Given the description of an element on the screen output the (x, y) to click on. 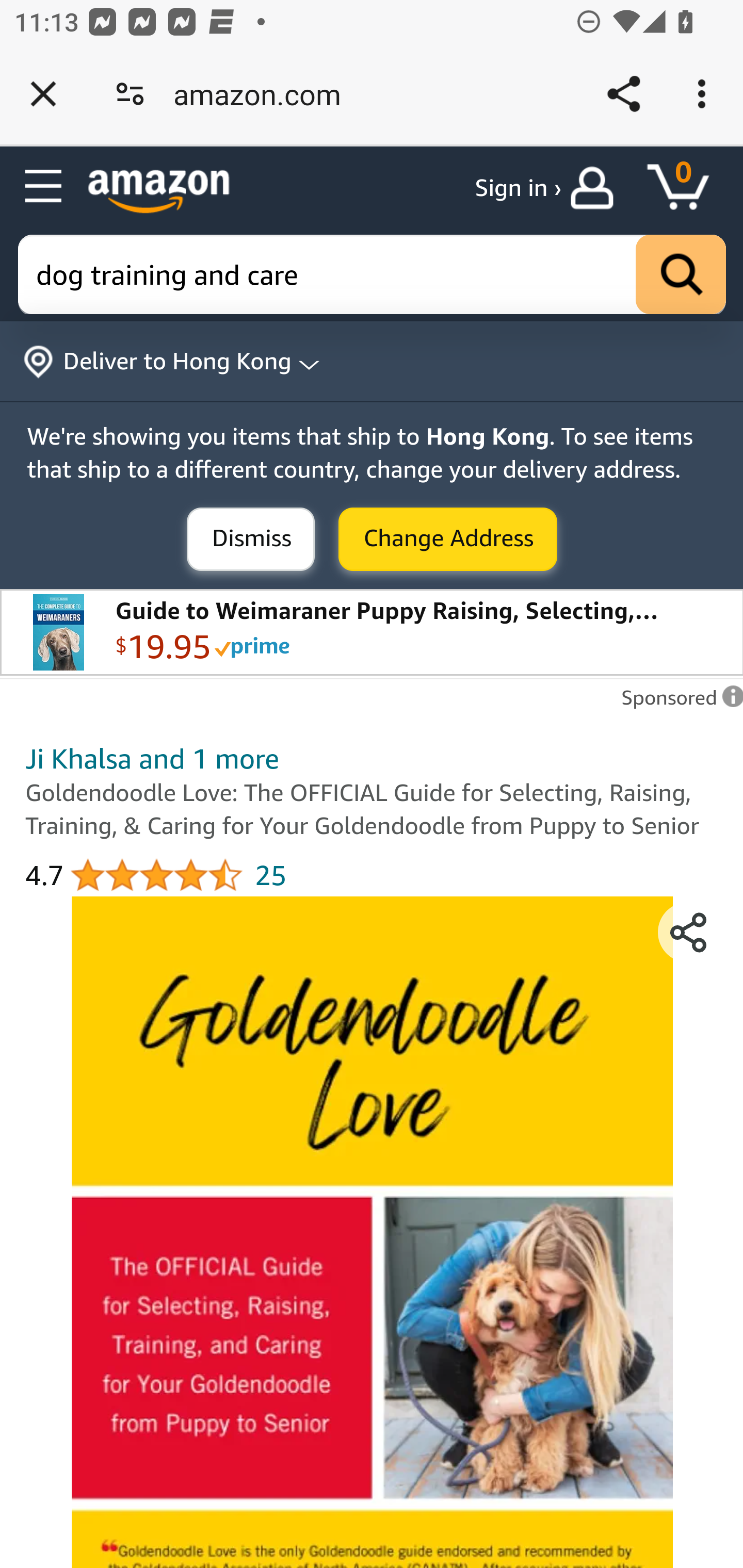
Close tab (43, 93)
Share (623, 93)
Customize and control Google Chrome (705, 93)
Connection is secure (129, 93)
amazon.com (264, 93)
Open Menu (44, 187)
Sign in › (518, 188)
your account (596, 188)
Cart 0 (687, 188)
Amazon (158, 191)
Clear search keywords (372, 275)
Go (681, 275)
Submit (250, 539)
Submit (447, 539)
Ji Khalsa and 1 more Ji Khalsa  and 1 more (152, 758)
